Given the description of an element on the screen output the (x, y) to click on. 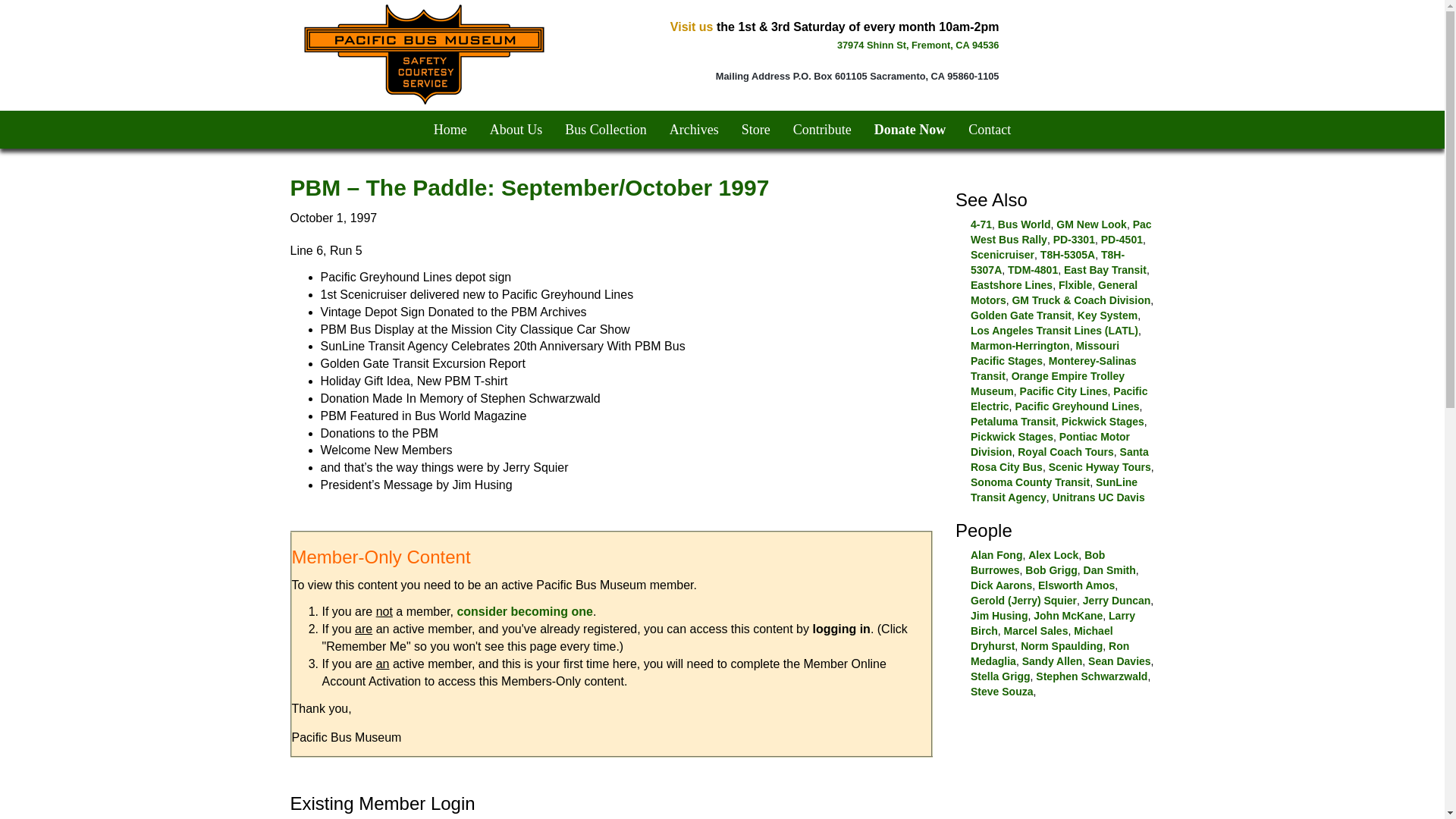
About Us (516, 129)
Bus Collection (605, 129)
Bus Collection (605, 129)
Visit us (691, 26)
Home (450, 129)
37974 Shinn St, Fremont, CA 94536 (917, 44)
Home (450, 129)
About Us (516, 129)
Archives (694, 129)
